Given the description of an element on the screen output the (x, y) to click on. 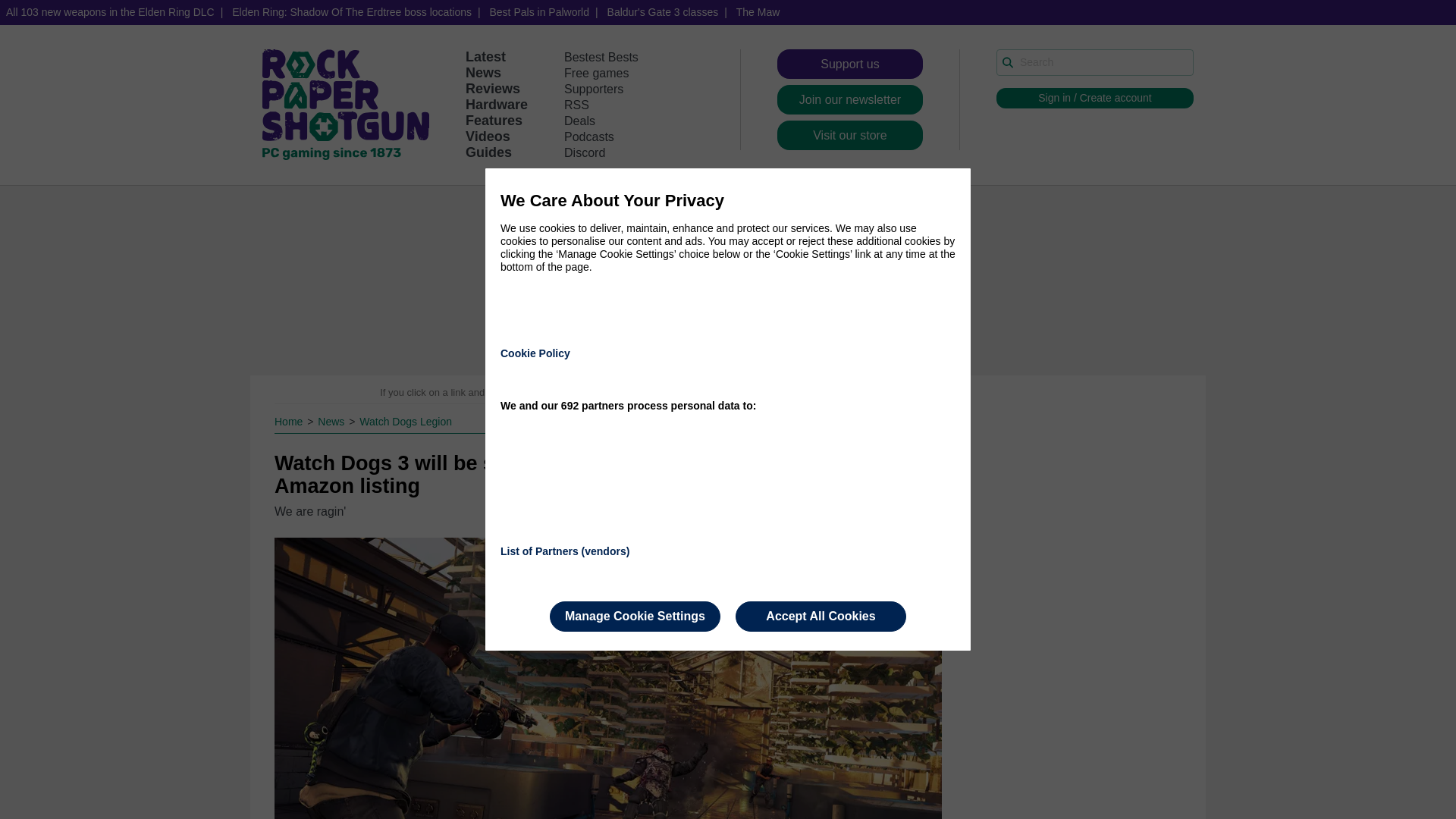
Best Pals in Palworld (539, 12)
Bestest Bests (601, 56)
Best Pals in Palworld (539, 12)
Deals (579, 120)
Features (493, 120)
Baldur's Gate 3 classes (663, 12)
Hardware (496, 104)
Free games (596, 72)
Discord (584, 152)
Features (493, 120)
Videos (488, 136)
The Maw (758, 12)
Bestest Bests (601, 56)
Elden Ring: Shadow Of The Erdtree boss locations (351, 12)
Join our newsletter (850, 99)
